Given the description of an element on the screen output the (x, y) to click on. 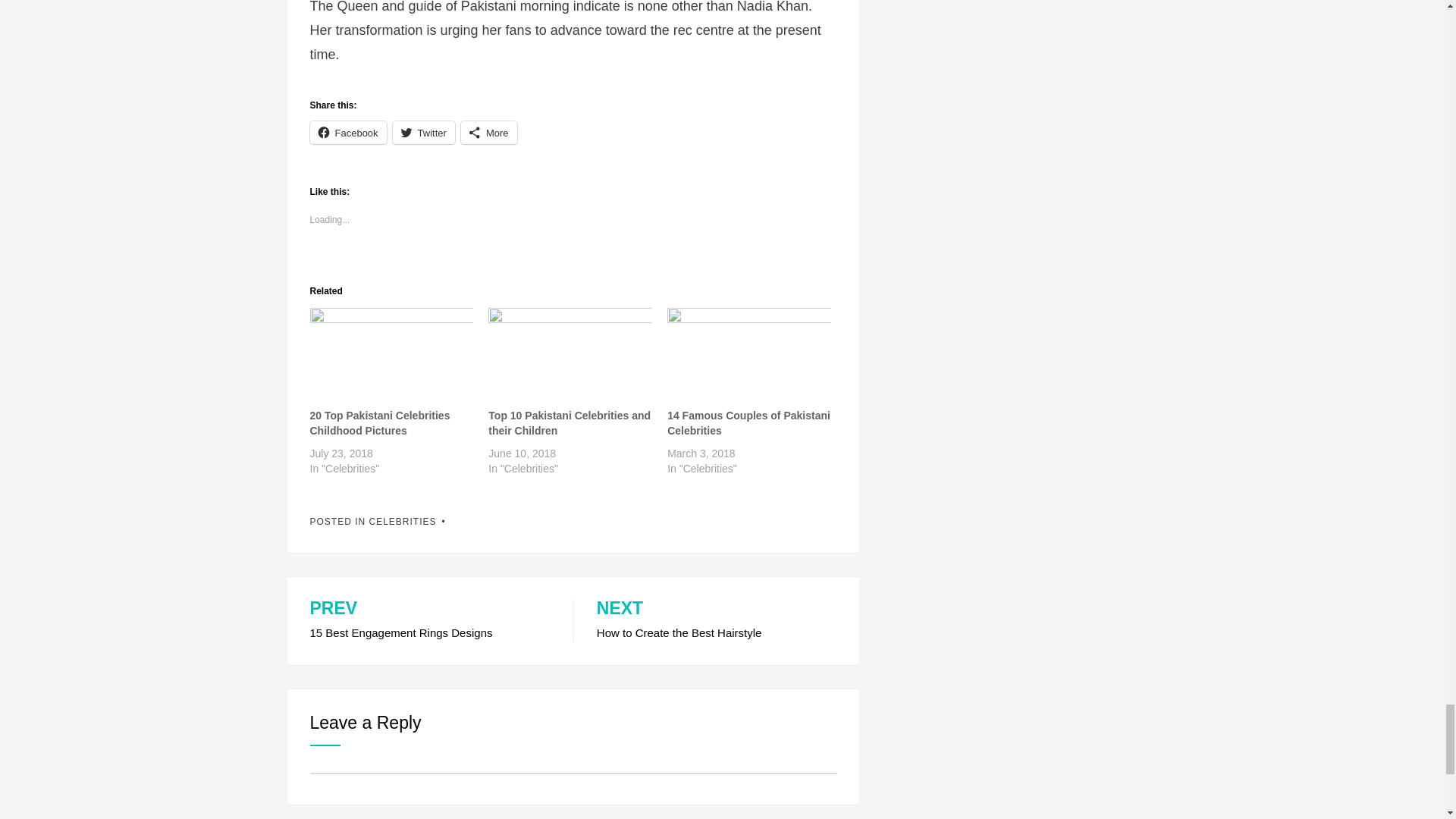
Click to share on Facebook (346, 132)
Top 10 Pakistani Celebrities and their Children (569, 352)
20 Top Pakistani Celebrities Childhood Pictures (378, 422)
Click to share on Twitter (423, 132)
20 Top Pakistani Celebrities Childhood Pictures (390, 352)
Top 10 Pakistani Celebrities and their Children (568, 422)
